Given the description of an element on the screen output the (x, y) to click on. 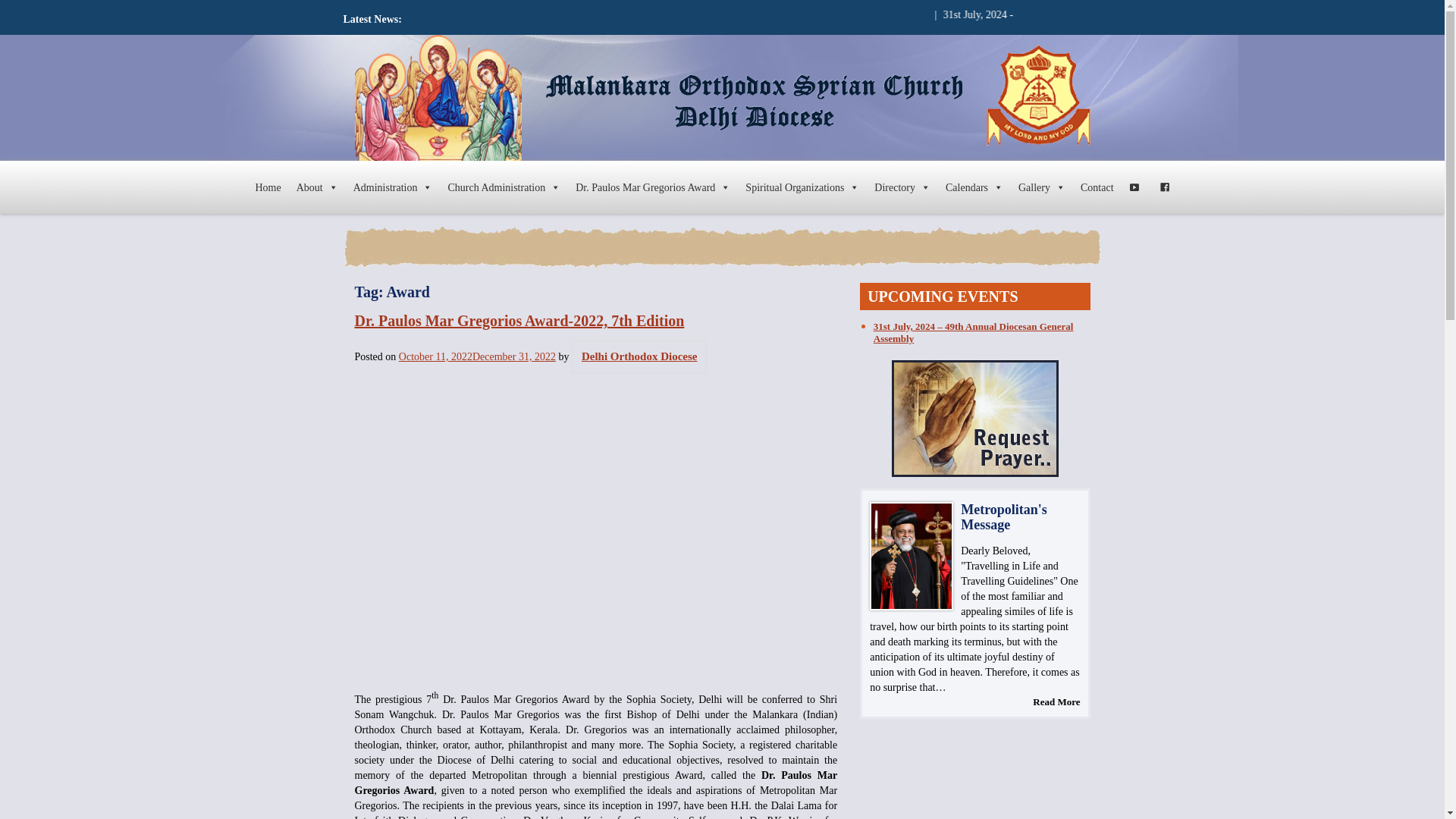
Dr. Paulos Mar Gregorios Award (652, 187)
Calendars (973, 187)
Latest News: (371, 19)
Administration (393, 187)
Church Administration (503, 187)
Spiritual Organizations (802, 187)
About (317, 187)
Directory (901, 187)
31st July, 2024 - 49th Annual Diocesan General Assembly (1142, 14)
